Given the description of an element on the screen output the (x, y) to click on. 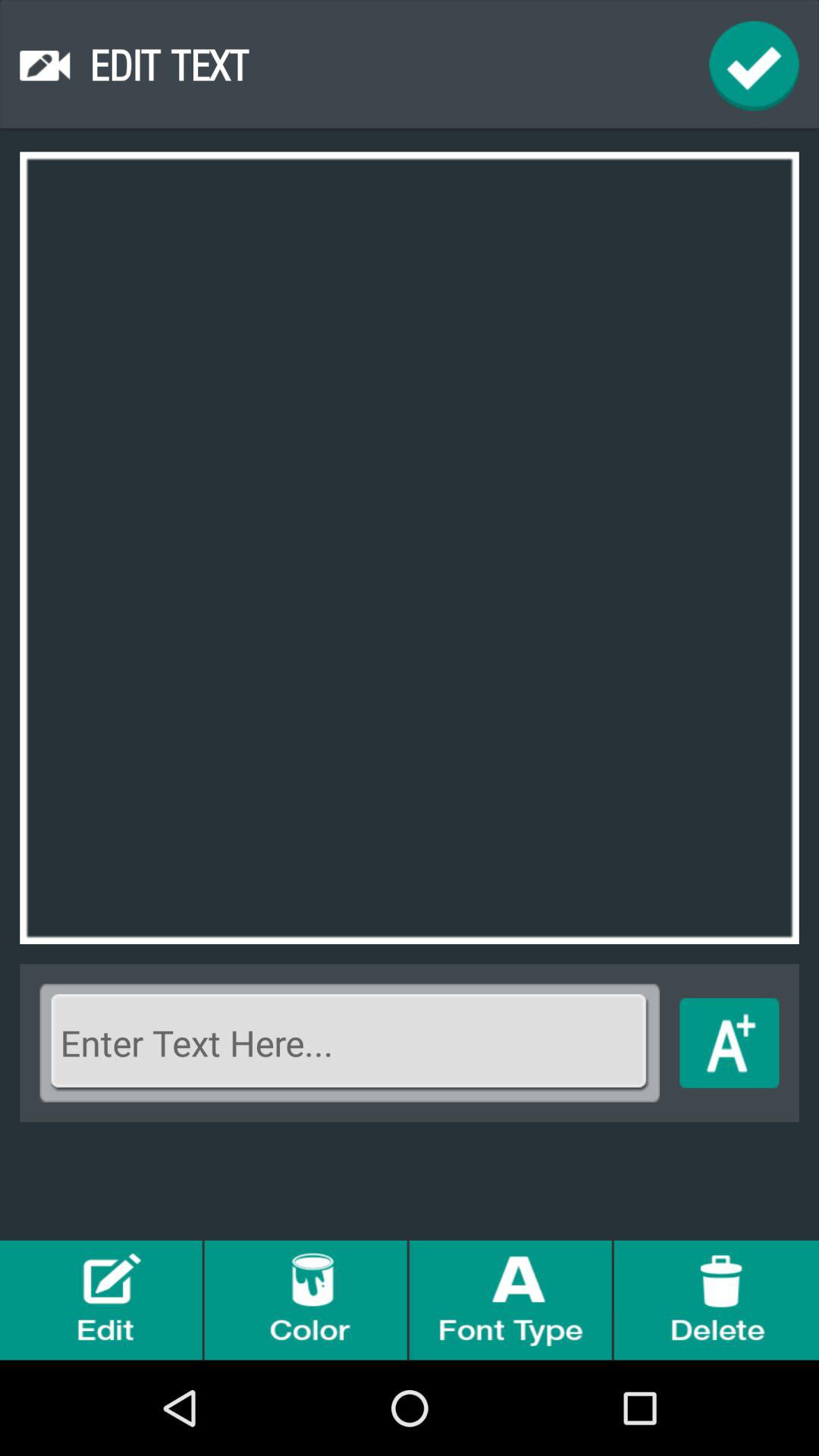
go to taxes (729, 1043)
